Given the description of an element on the screen output the (x, y) to click on. 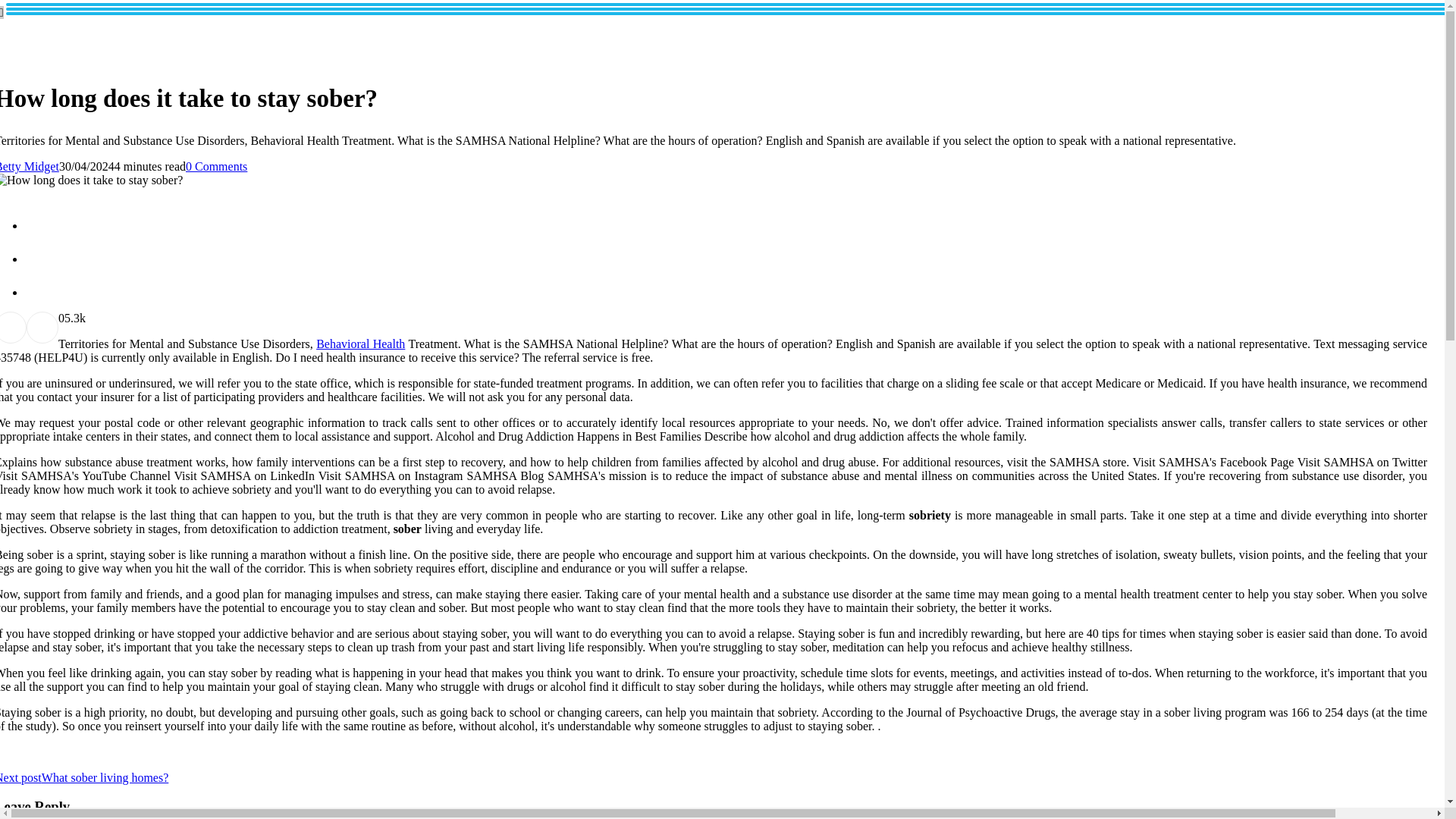
Behavioral Health (359, 343)
Betty Midget (29, 165)
Posts by Betty Midget (29, 165)
Next postWhat sober living homes? (84, 777)
0 Comments (216, 165)
